Given the description of an element on the screen output the (x, y) to click on. 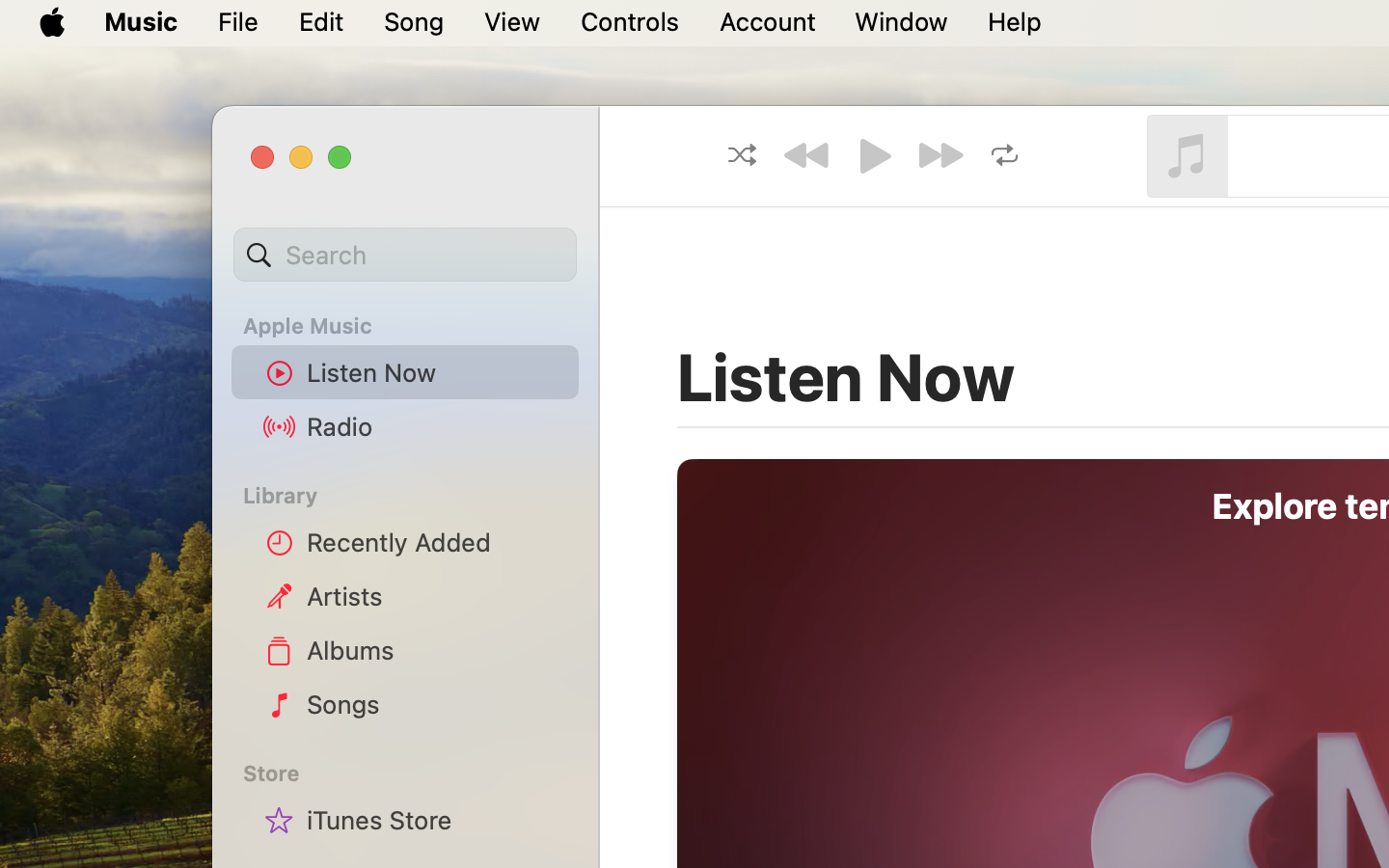
Radio Element type: AXStaticText (434, 425)
Artists Element type: AXStaticText (434, 595)
Listen Now Element type: AXStaticText (434, 371)
Apple Music Element type: AXStaticText (416, 325)
iTunes Store Element type: AXStaticText (434, 819)
